Given the description of an element on the screen output the (x, y) to click on. 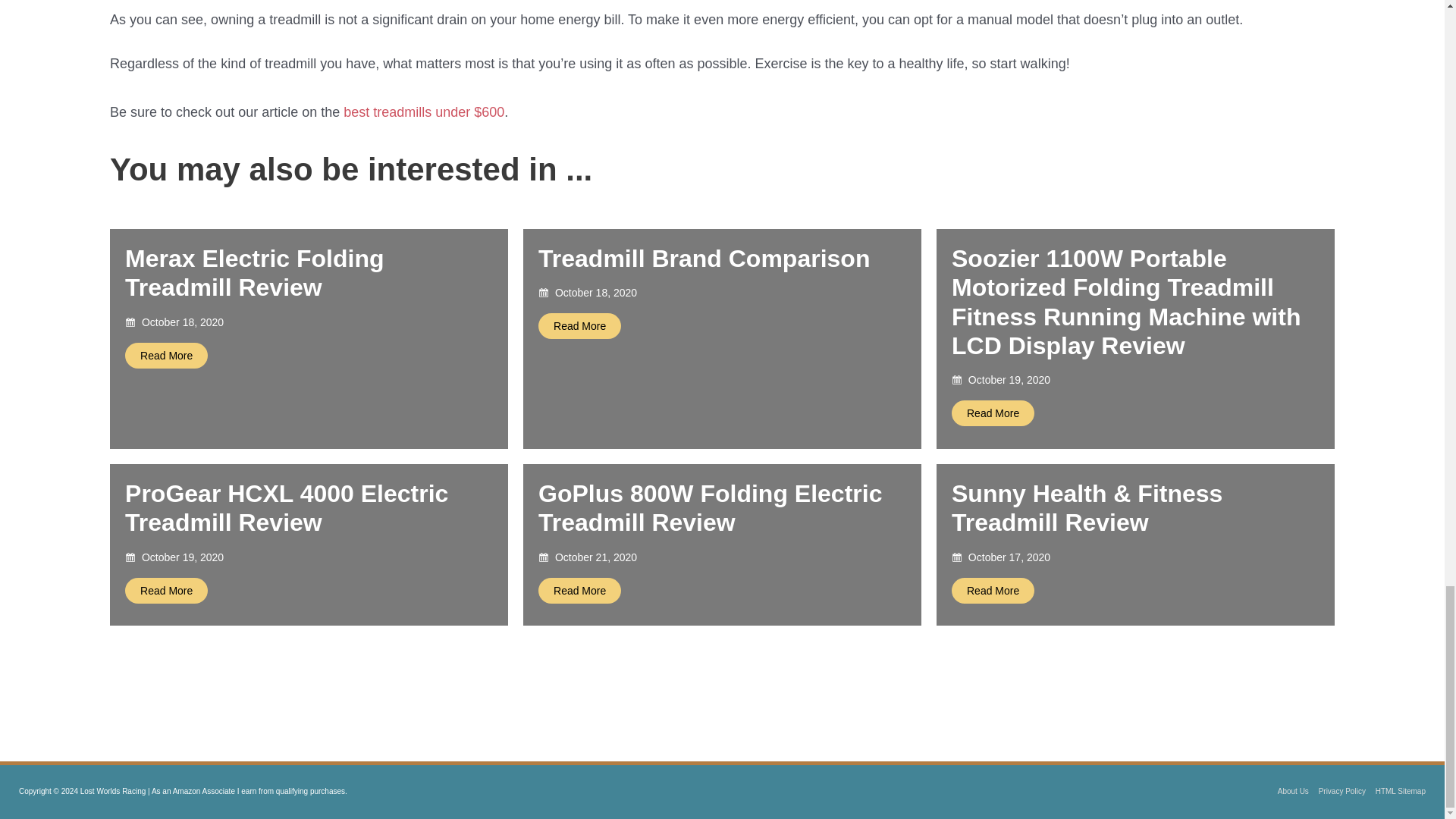
Treadmill Brand Comparison (703, 257)
About Us (1288, 791)
GoPlus 800W Folding Electric Treadmill Review (710, 507)
Read More (992, 412)
HTML Sitemap (1396, 791)
Privacy Policy (1338, 791)
Read More (166, 590)
Read More (166, 354)
Read More (579, 590)
Read More (992, 590)
